Given the description of an element on the screen output the (x, y) to click on. 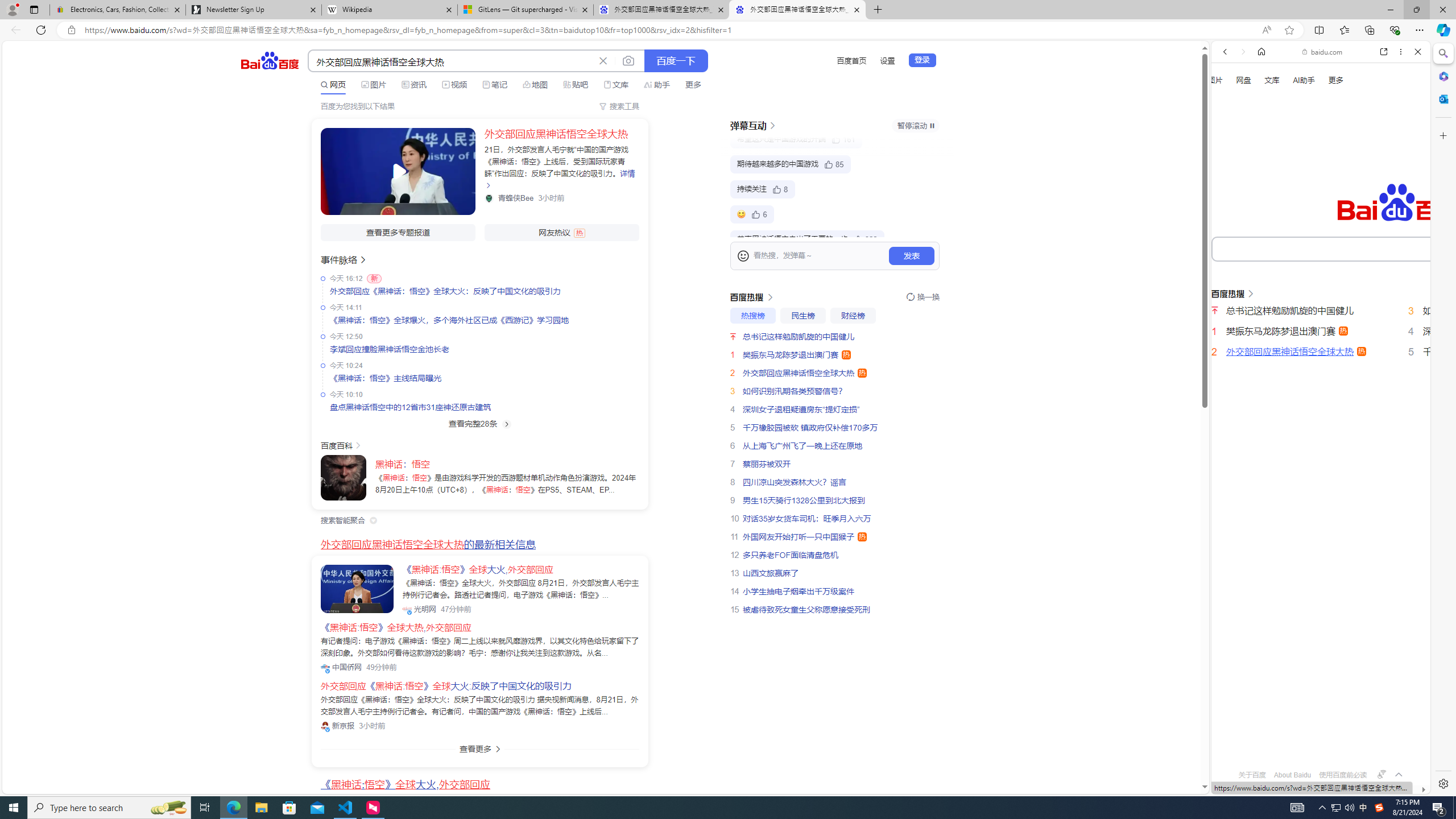
English (US) (1320, 329)
OFTV - Enjoy videos from your favorite OF creators! (1315, 753)
baidu.com (1323, 51)
